Given the description of an element on the screen output the (x, y) to click on. 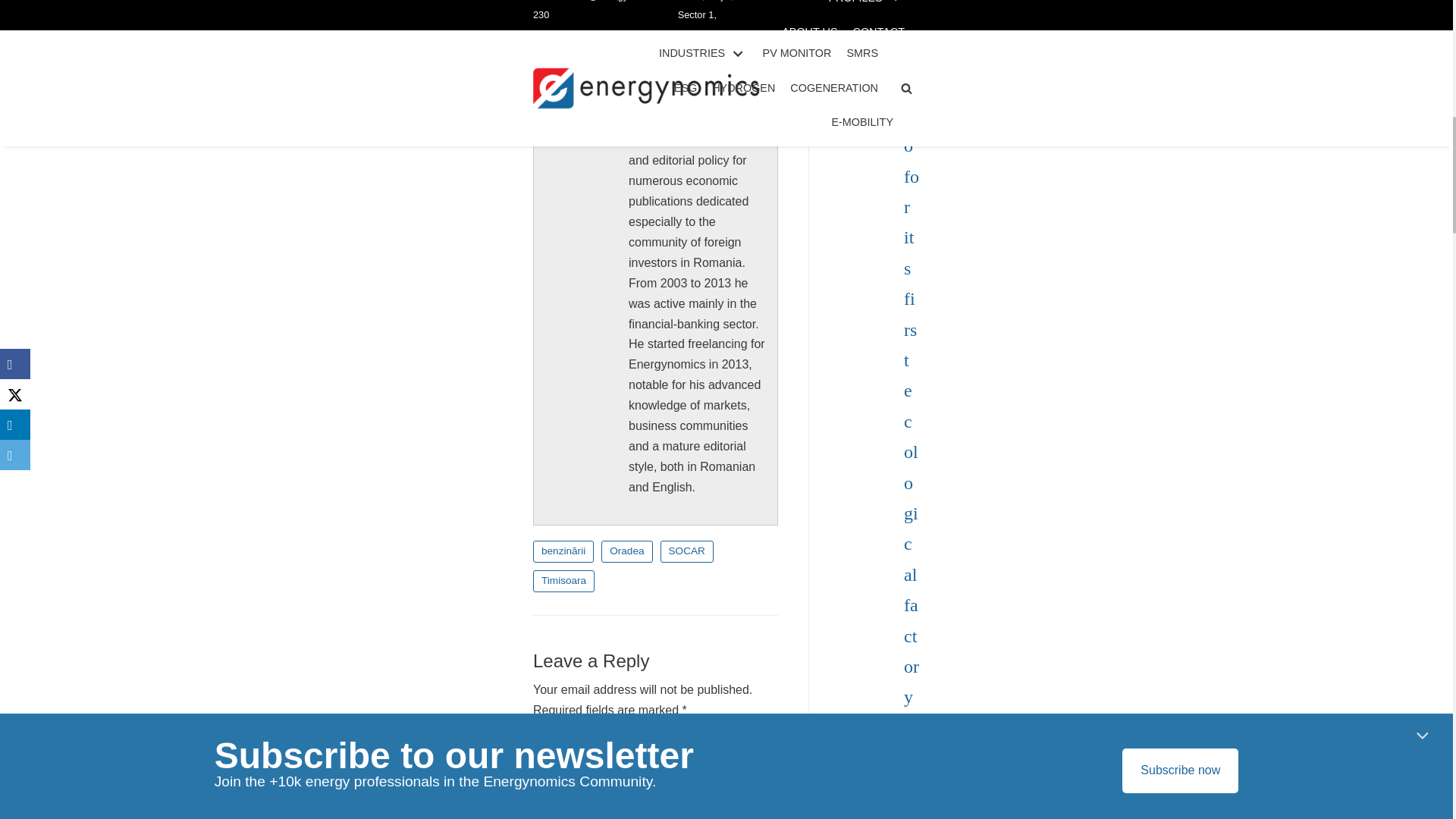
Timisoara (563, 581)
SOCAR (687, 551)
Oradea (626, 551)
